Given the description of an element on the screen output the (x, y) to click on. 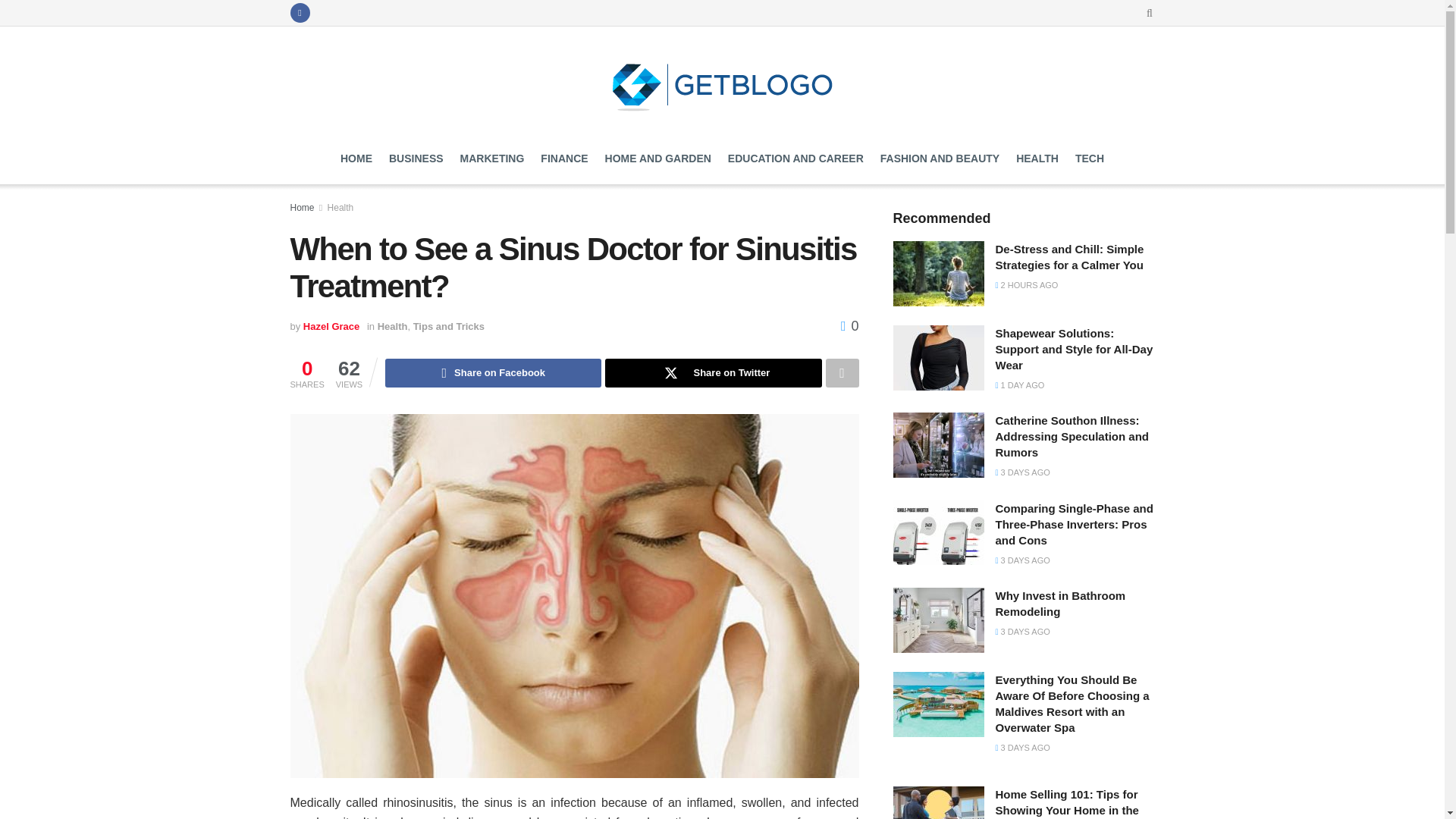
FASHION AND BEAUTY (939, 158)
HOME AND GARDEN (658, 158)
Health (340, 207)
FINANCE (564, 158)
BUSINESS (416, 158)
MARKETING (492, 158)
Home (301, 207)
Share on Twitter (713, 372)
Health (392, 326)
Share on Facebook (493, 372)
Tips and Tricks (448, 326)
0 (850, 325)
EDUCATION AND CAREER (795, 158)
Hazel Grace (330, 326)
